Given the description of an element on the screen output the (x, y) to click on. 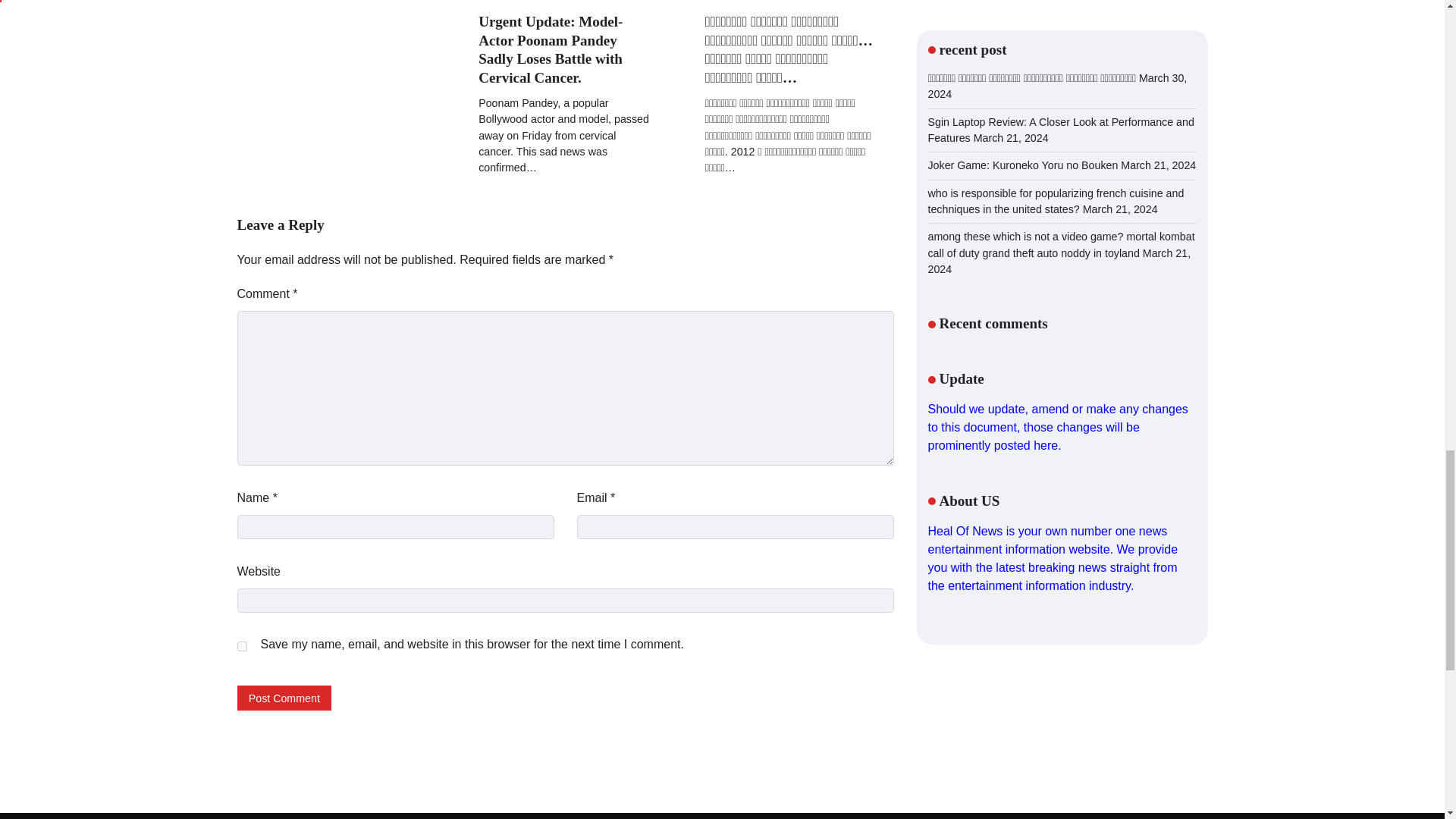
yes (240, 646)
Post Comment (283, 697)
Post Comment (283, 697)
